Given the description of an element on the screen output the (x, y) to click on. 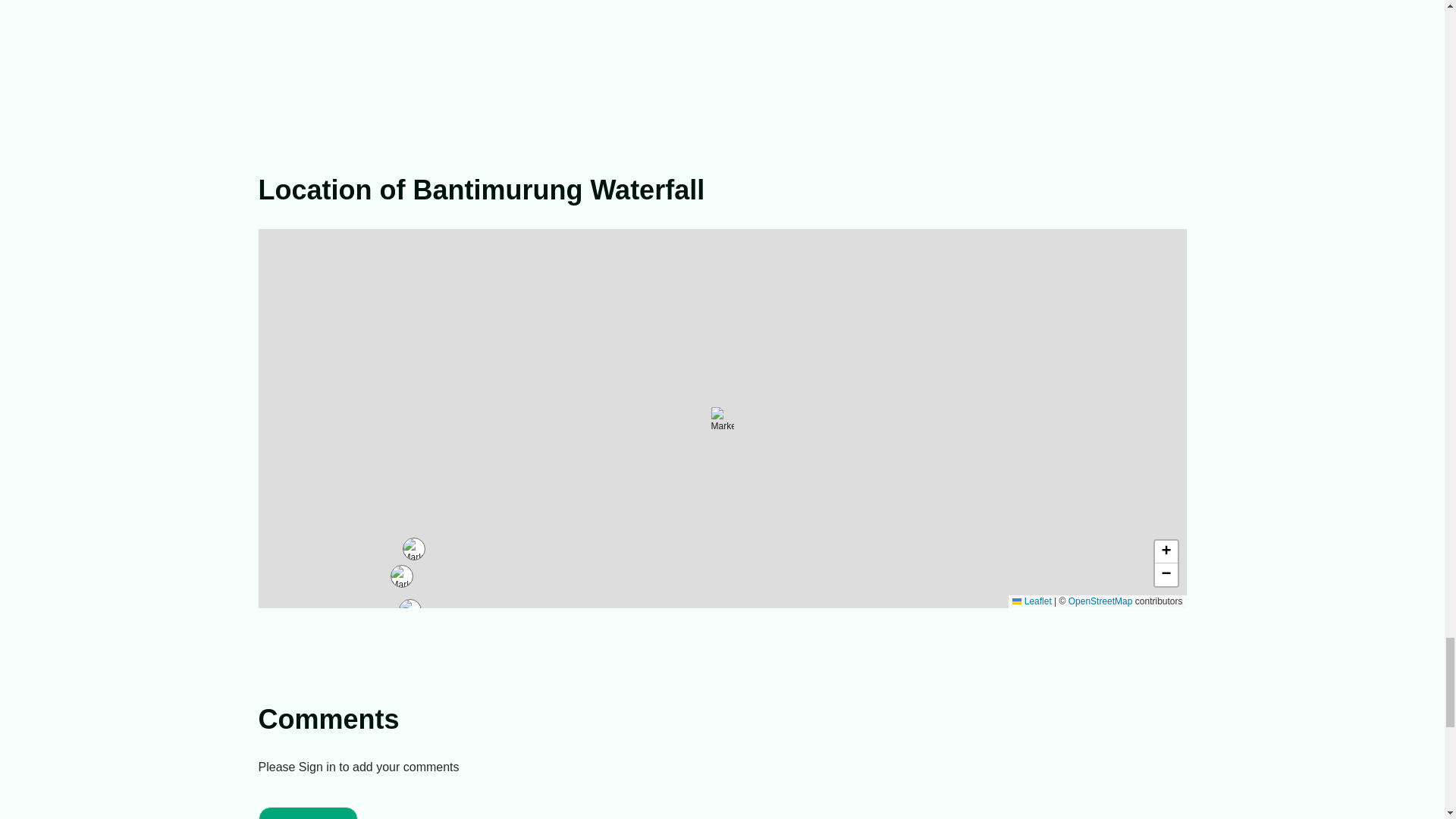
A JavaScript library for interactive maps (1031, 601)
Zoom out (1165, 574)
Zoom in (1165, 551)
